Given the description of an element on the screen output the (x, y) to click on. 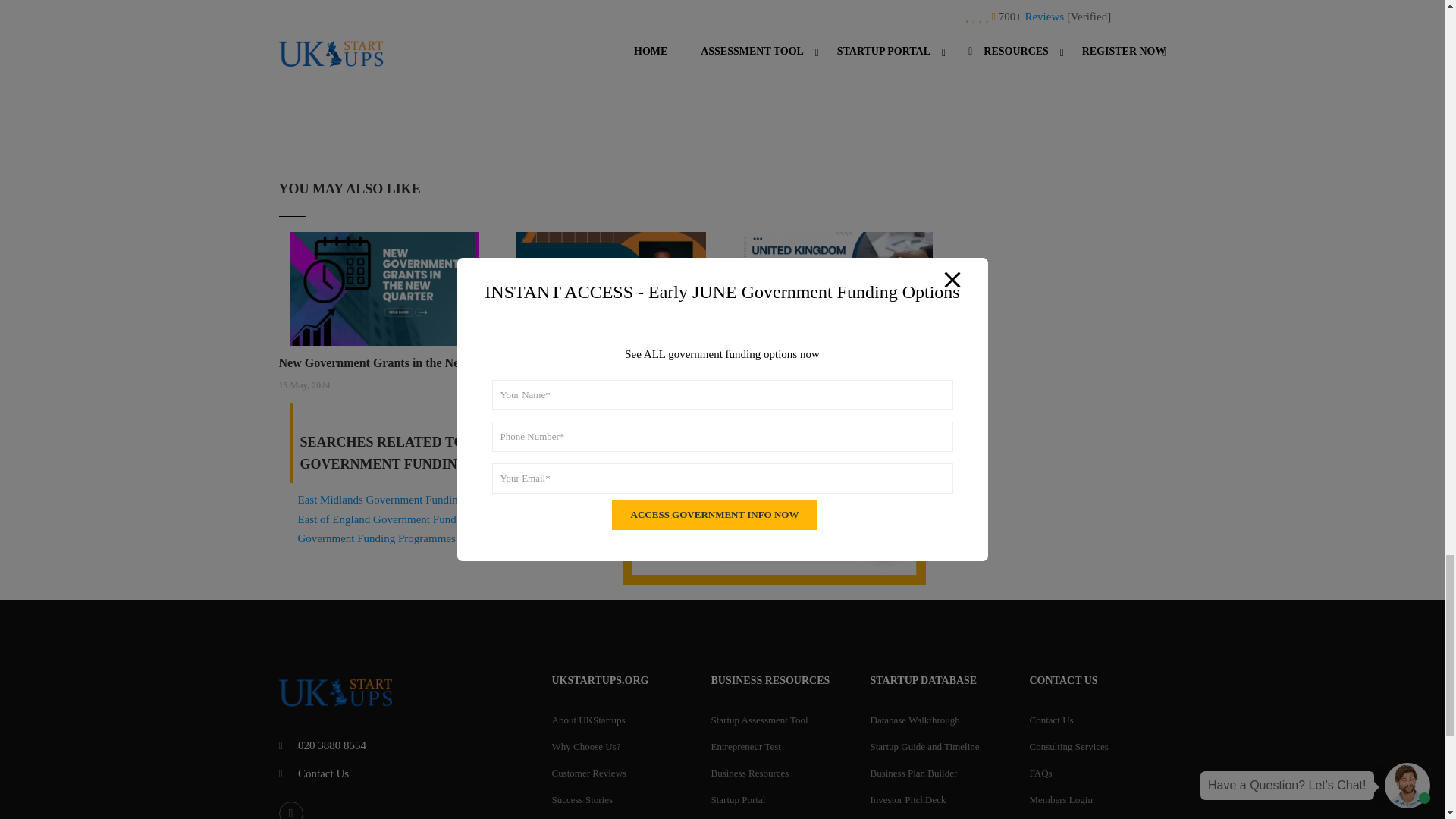
New Government Grants in the New Quarter (384, 362)
UKStartups Funding Experts (611, 362)
United Kingdom Business Startups (837, 362)
